Given the description of an element on the screen output the (x, y) to click on. 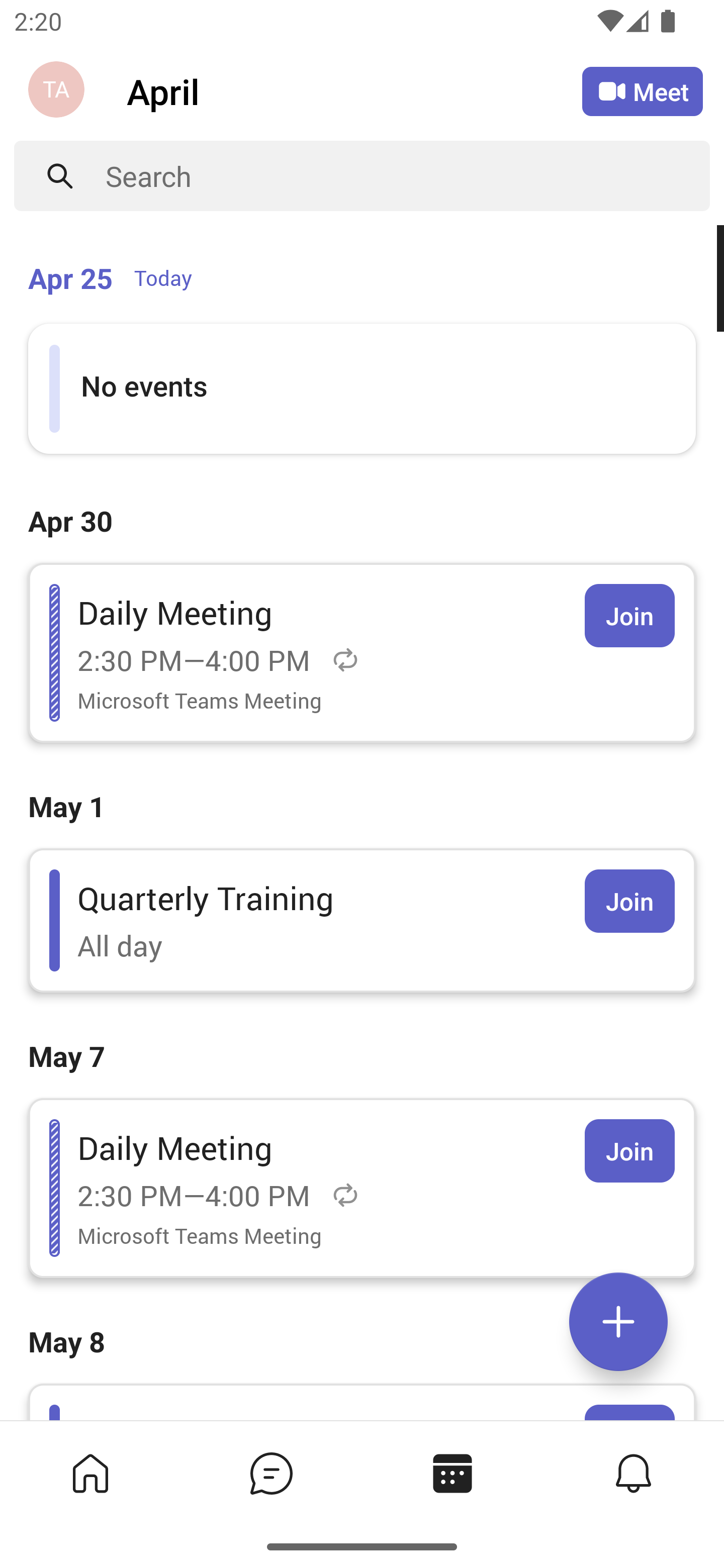
Navigation (58, 91)
Meet Meet now or join with an ID (642, 91)
April April Calendar Agenda View (354, 90)
Search (407, 176)
Join (629, 615)
Join (629, 900)
Join (629, 1150)
Expand meetings menu (618, 1321)
Home tab,1 of 4, not selected (89, 1472)
Chat tab,2 of 4, not selected (270, 1472)
Calendar tab, 3 of 4 (451, 1472)
Activity tab,4 of 4, not selected (632, 1472)
